Given the description of an element on the screen output the (x, y) to click on. 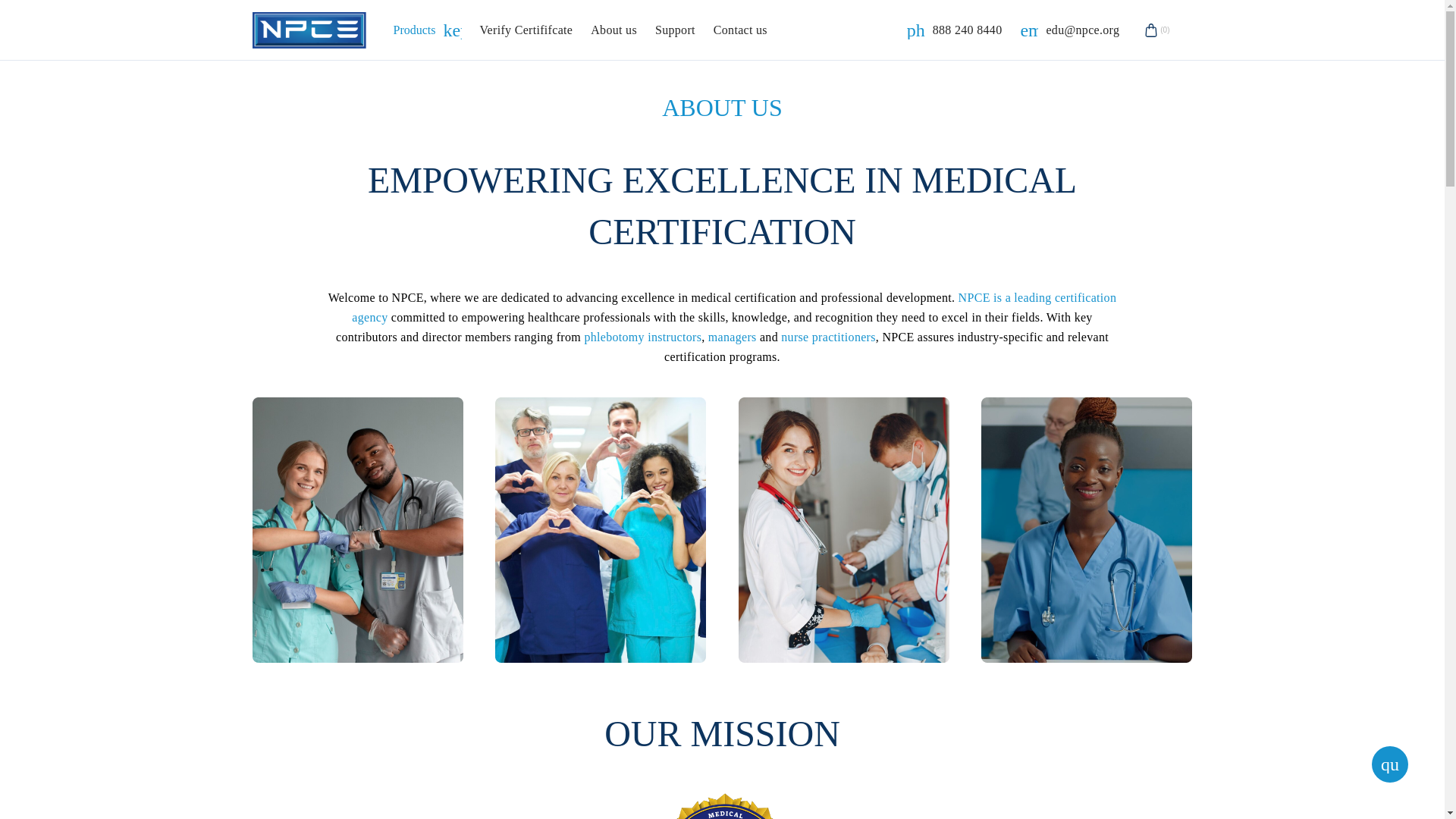
Support (955, 30)
Contact us (675, 30)
Verify Certififcate (740, 30)
About us (525, 30)
